Given the description of an element on the screen output the (x, y) to click on. 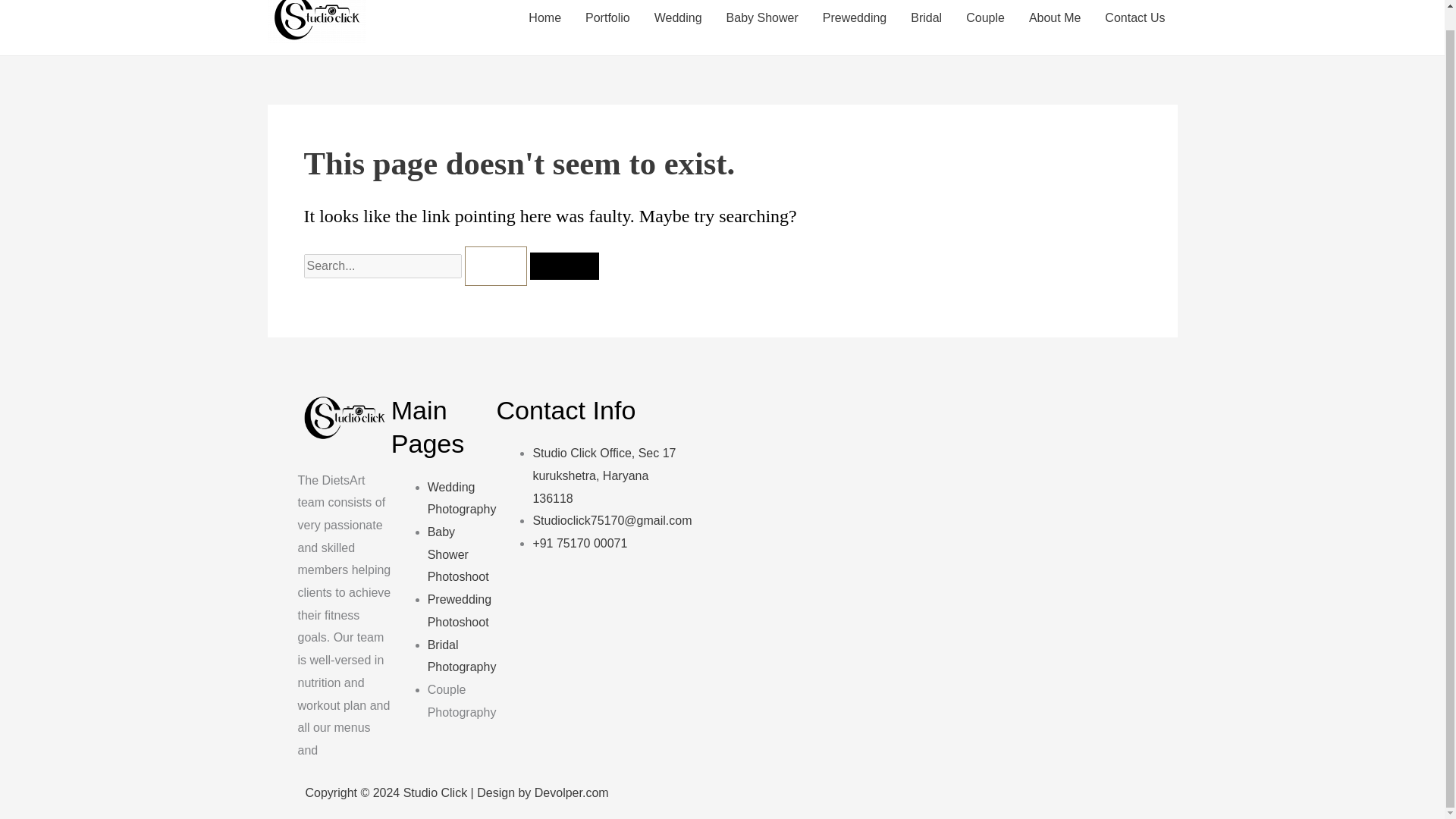
Baby Shower (762, 24)
Contact Us (1134, 24)
Wedding (678, 24)
Bridal (925, 24)
Search (563, 266)
Studio Click Office, Sec 17 kurukshetra, Haryana 136118 (603, 475)
Bridal Photography (462, 656)
Baby Shower Photoshoot (458, 554)
Wedding Photography (462, 498)
Search (563, 266)
Portfolio (607, 24)
Prewedding Photoshoot (460, 610)
Couple (984, 24)
Home (544, 24)
Prewedding (854, 24)
